Given the description of an element on the screen output the (x, y) to click on. 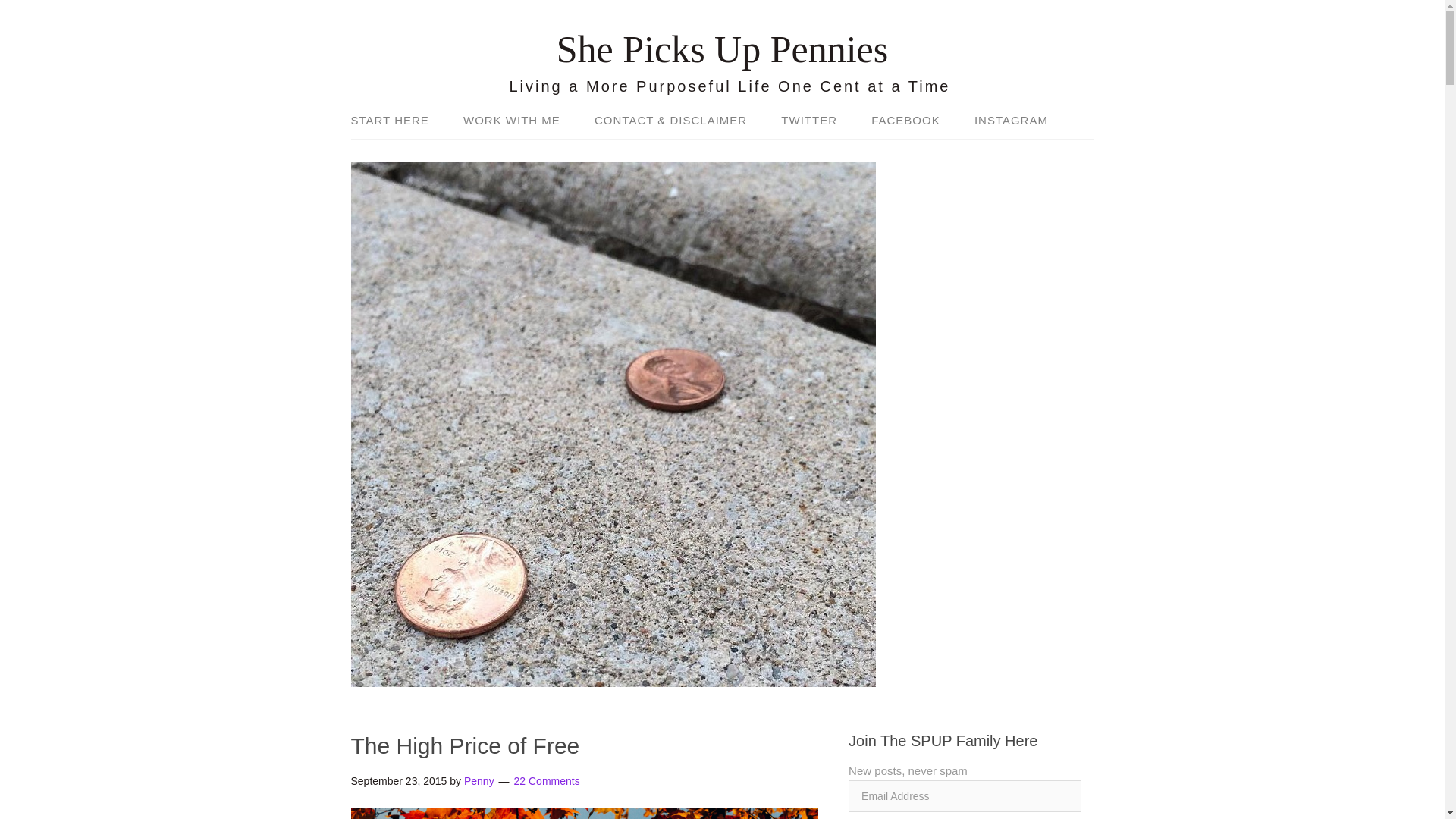
Penny (479, 780)
She Picks Up Pennies (722, 48)
INSTAGRAM (1003, 120)
WORK WITH ME (511, 120)
She Picks Up Pennies (722, 48)
FACEBOOK (905, 120)
22 Comments (546, 780)
TWITTER (808, 120)
Posts by Penny (479, 780)
Wednesday, September 23, 2015, 7:00 am (398, 780)
START HERE (397, 120)
